Given the description of an element on the screen output the (x, y) to click on. 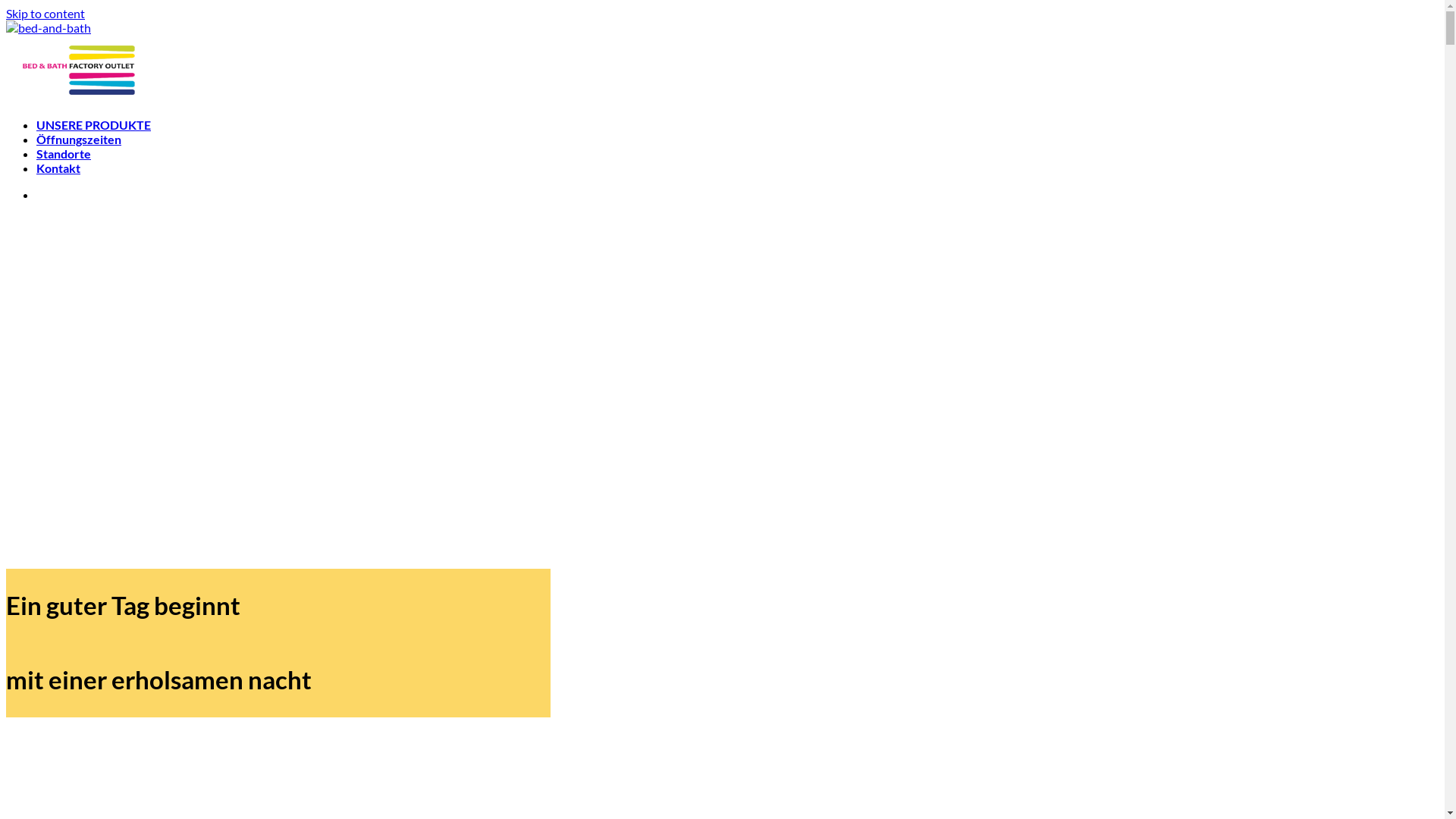
Skip to content Element type: text (45, 13)
Standorte Element type: text (63, 153)
bed-and-bath - Just another WordPress site Element type: hover (81, 62)
Kontakt Element type: text (58, 167)
UNSERE PRODUKTE Element type: text (93, 124)
